Given the description of an element on the screen output the (x, y) to click on. 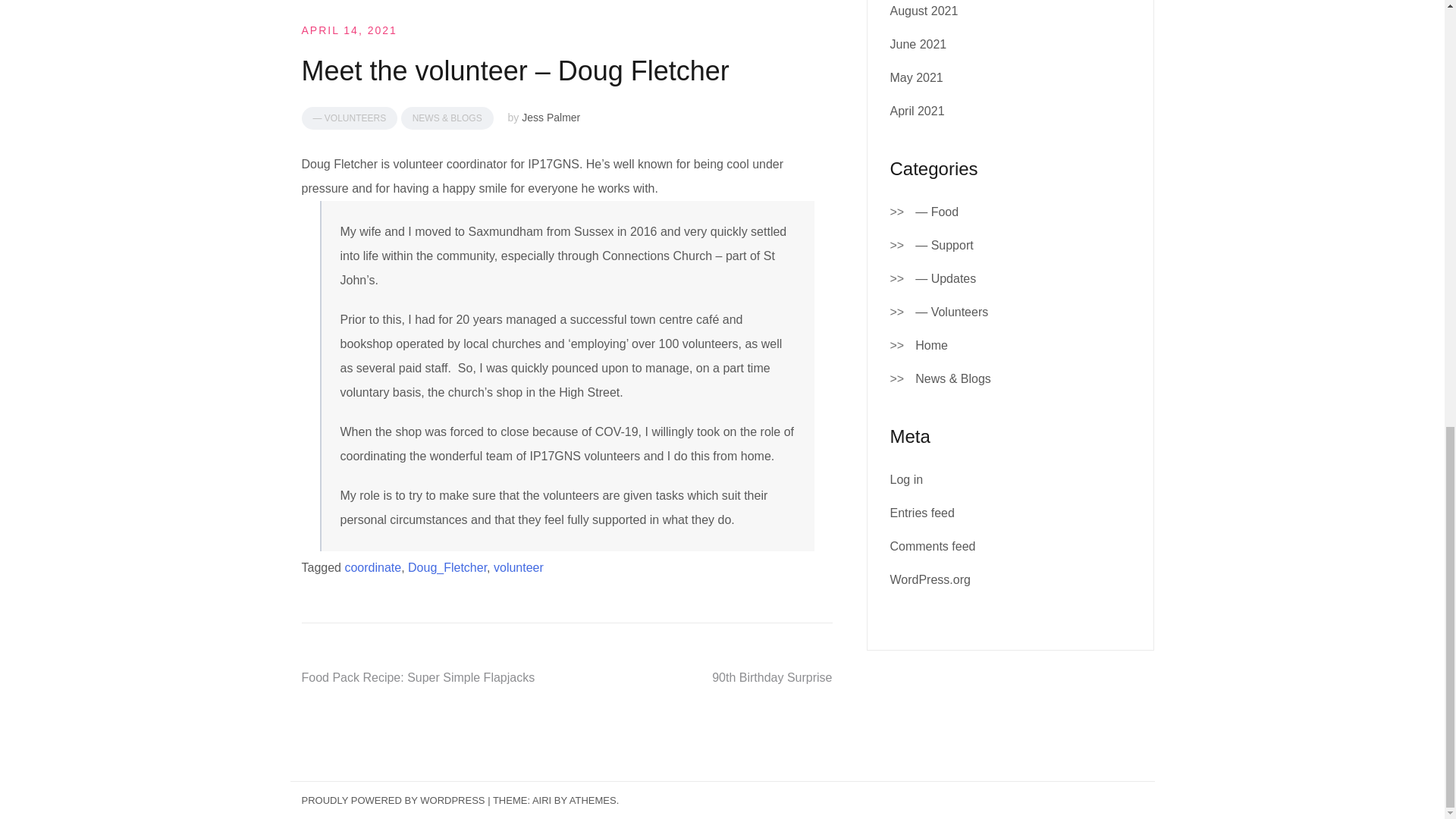
coordinate (372, 567)
Home (931, 345)
APRIL 14, 2021 (349, 30)
Jess Palmer (550, 117)
Log in (906, 479)
Entries feed (922, 512)
May 2021 (916, 77)
August 2021 (923, 10)
volunteer (518, 567)
April 2021 (916, 110)
